Given the description of an element on the screen output the (x, y) to click on. 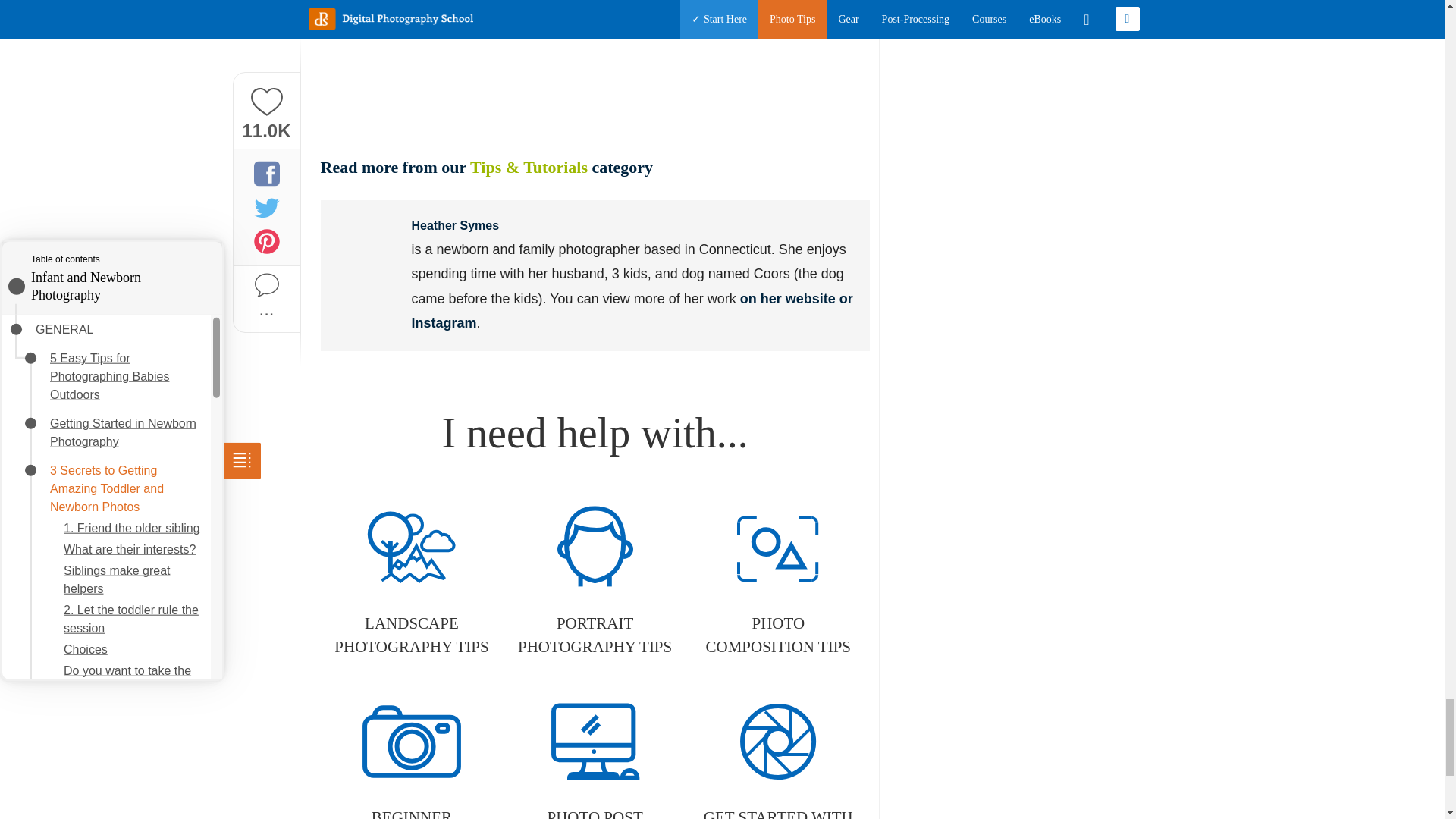
Landscape Photography Tips (411, 581)
Portrait Photography Tips (595, 581)
Heather Symes (365, 245)
Beginner Photography Tips (411, 754)
Photo Composition Tips (778, 581)
Heather Symes (454, 225)
